Given the description of an element on the screen output the (x, y) to click on. 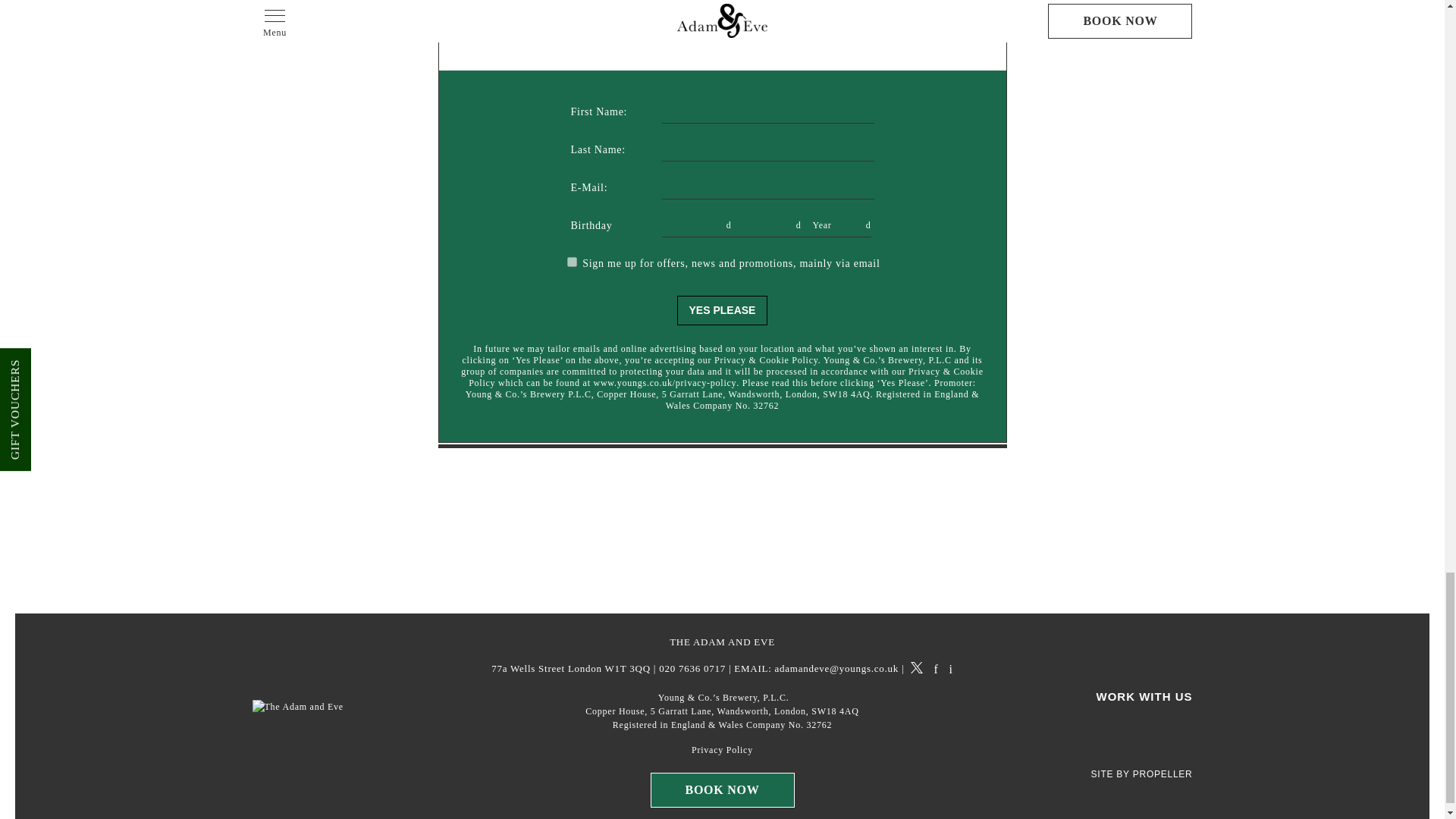
Instagram (951, 669)
SITE BY PROPELLER (1141, 775)
Twitter (917, 668)
f (935, 669)
YES PLEASE (722, 310)
020 7636 0717 (692, 668)
true (571, 261)
020 7636 0717 (692, 668)
WORK WITH US (1144, 696)
Privacy Policy (721, 749)
Facebook (935, 669)
i (951, 669)
